Given the description of an element on the screen output the (x, y) to click on. 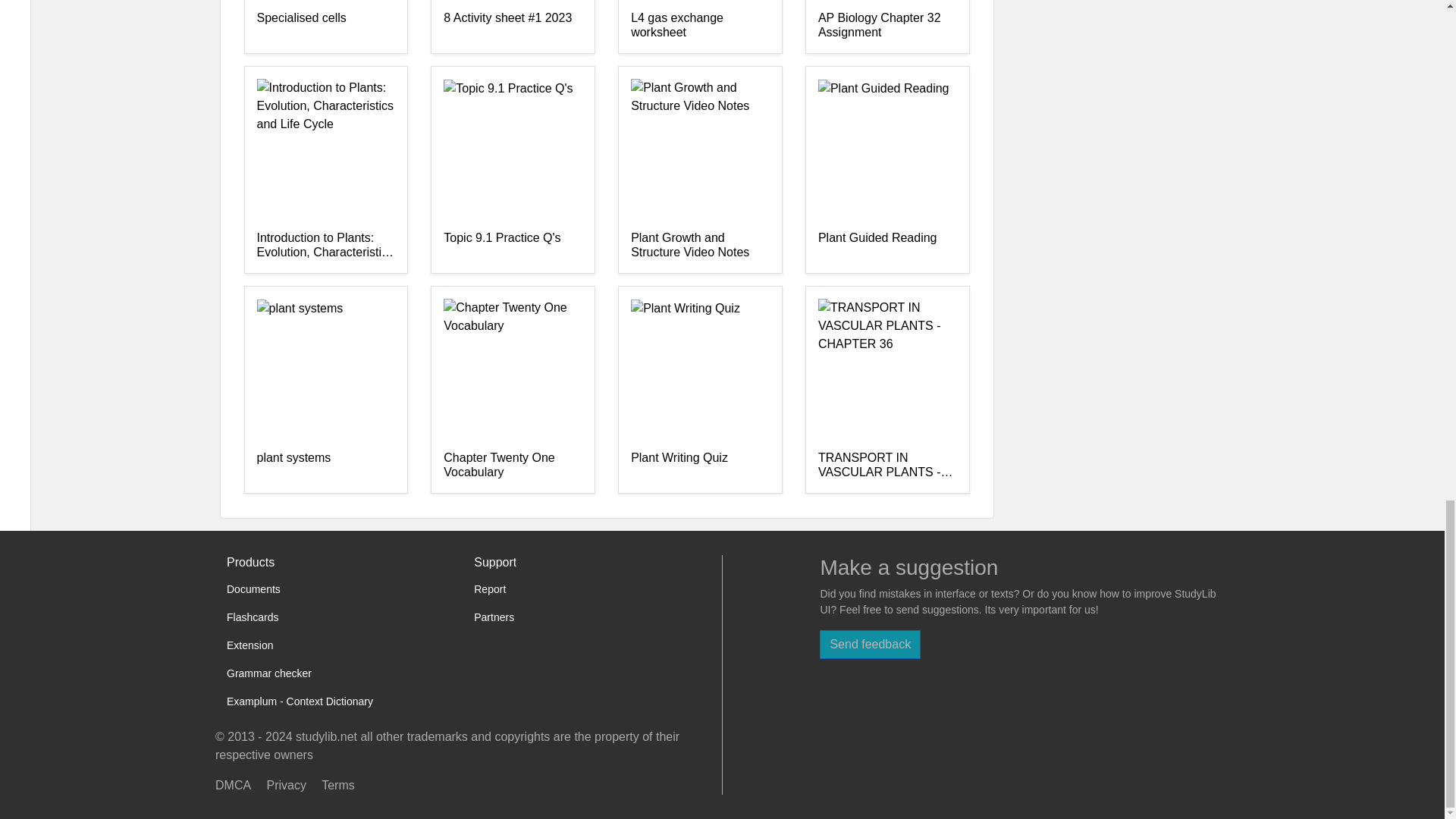
Topic 9.1 Practice Q's (513, 245)
Specialised cells (325, 25)
Plant Guided Reading (887, 245)
L4 gas exchange worksheet (700, 25)
AP Biology Chapter 32 Assignment (887, 25)
TRANSPORT IN VASCULAR PLANTS - CHAPTER 36 (887, 465)
Specialised cells (325, 25)
L4 gas exchange worksheet (700, 25)
AP Biology Chapter 32 Assignment (887, 25)
